Given the description of an element on the screen output the (x, y) to click on. 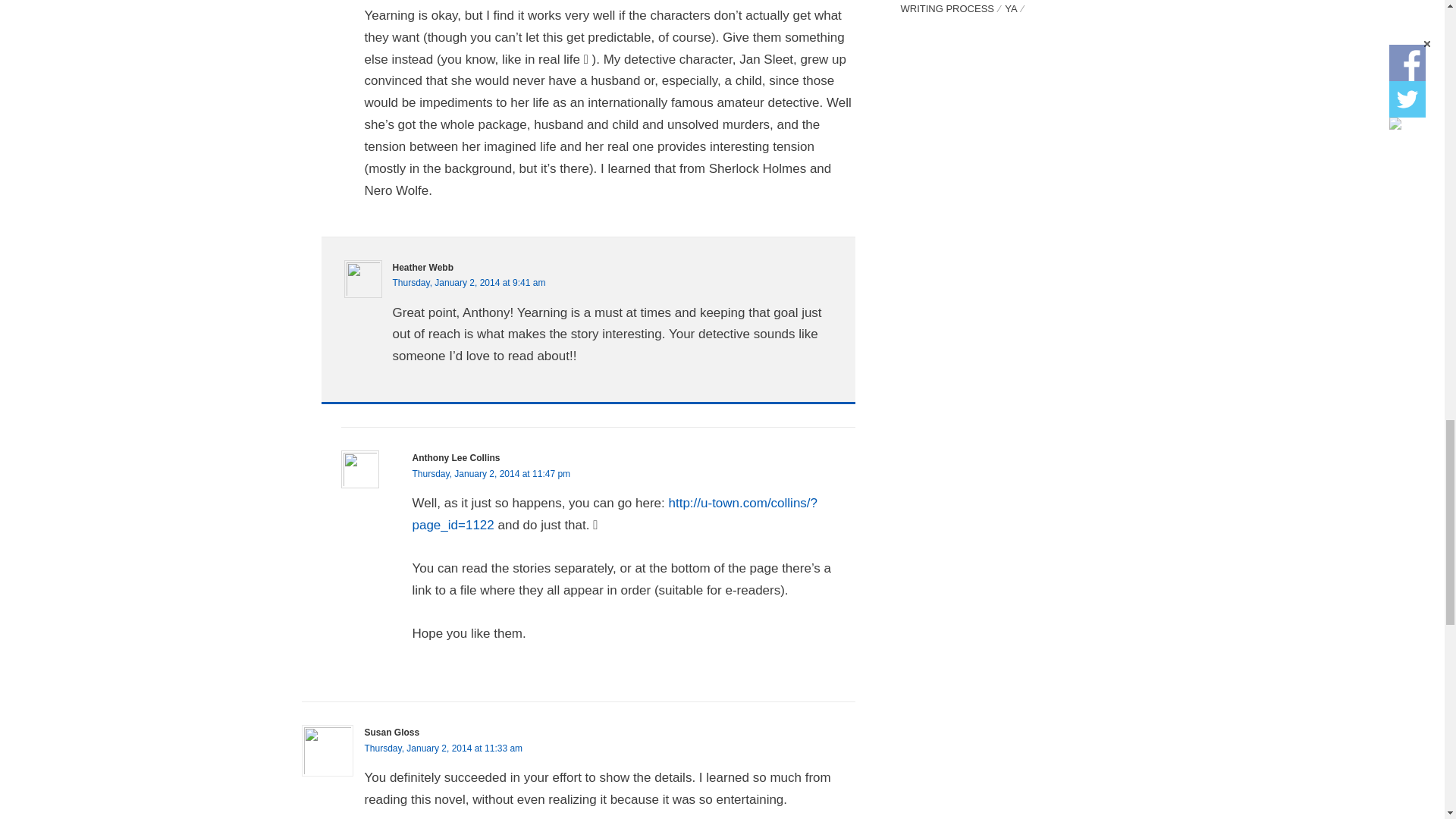
Susan Gloss (391, 732)
Thursday, January 2, 2014 at 11:33 am (443, 747)
Heather Webb (422, 267)
Thursday, January 2, 2014 at 9:41 am (469, 282)
Anthony Lee Collins (456, 457)
Thursday, January 2, 2014 at 11:47 pm (491, 473)
